Given the description of an element on the screen output the (x, y) to click on. 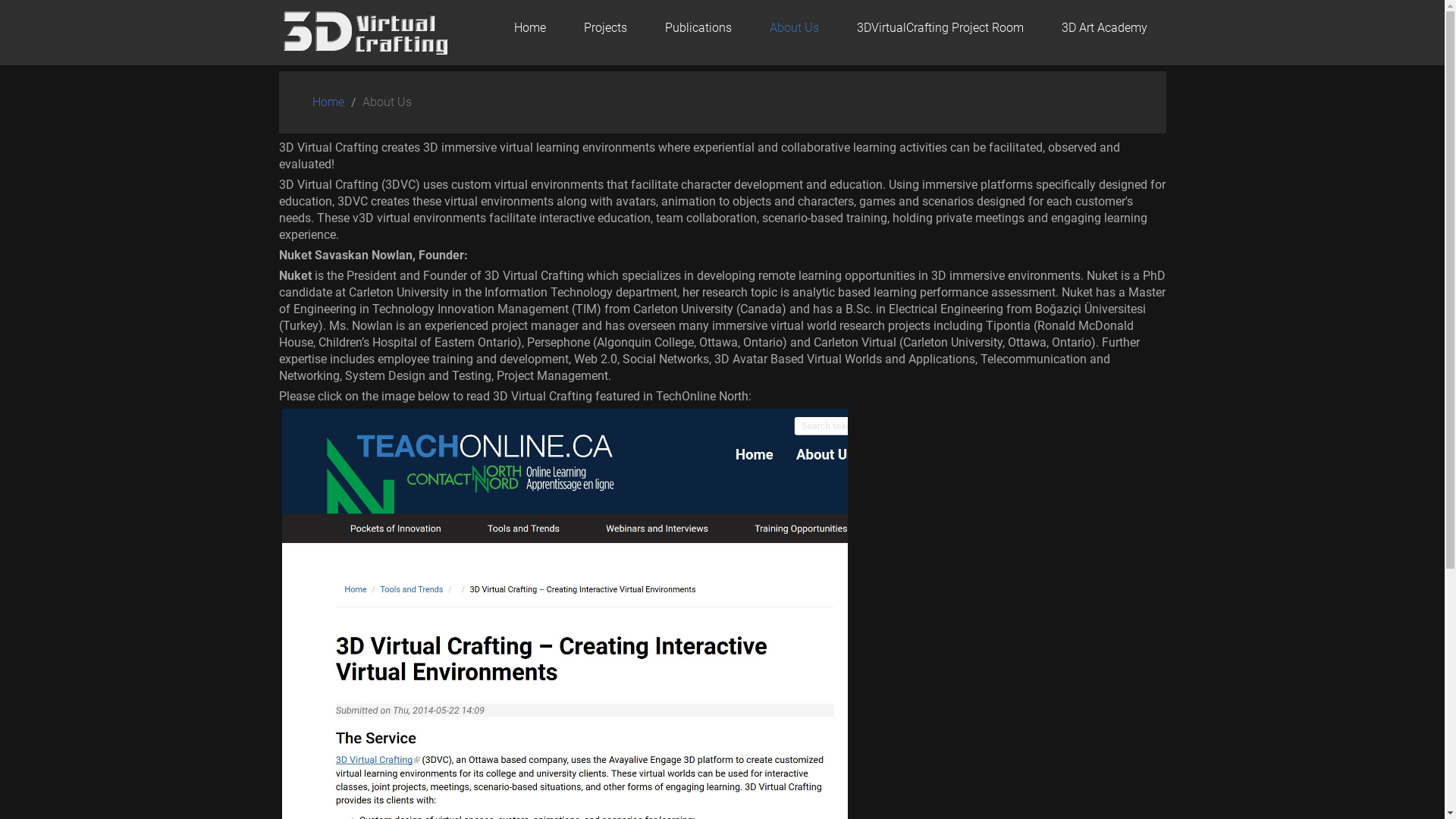
Projects Element type: text (604, 27)
Home Element type: text (328, 101)
Home Element type: text (529, 27)
About Us Element type: text (793, 27)
3DVirtualCrafting Project Room Element type: text (939, 27)
3D Art Academy Element type: text (1103, 27)
Publications Element type: text (698, 27)
